Given the description of an element on the screen output the (x, y) to click on. 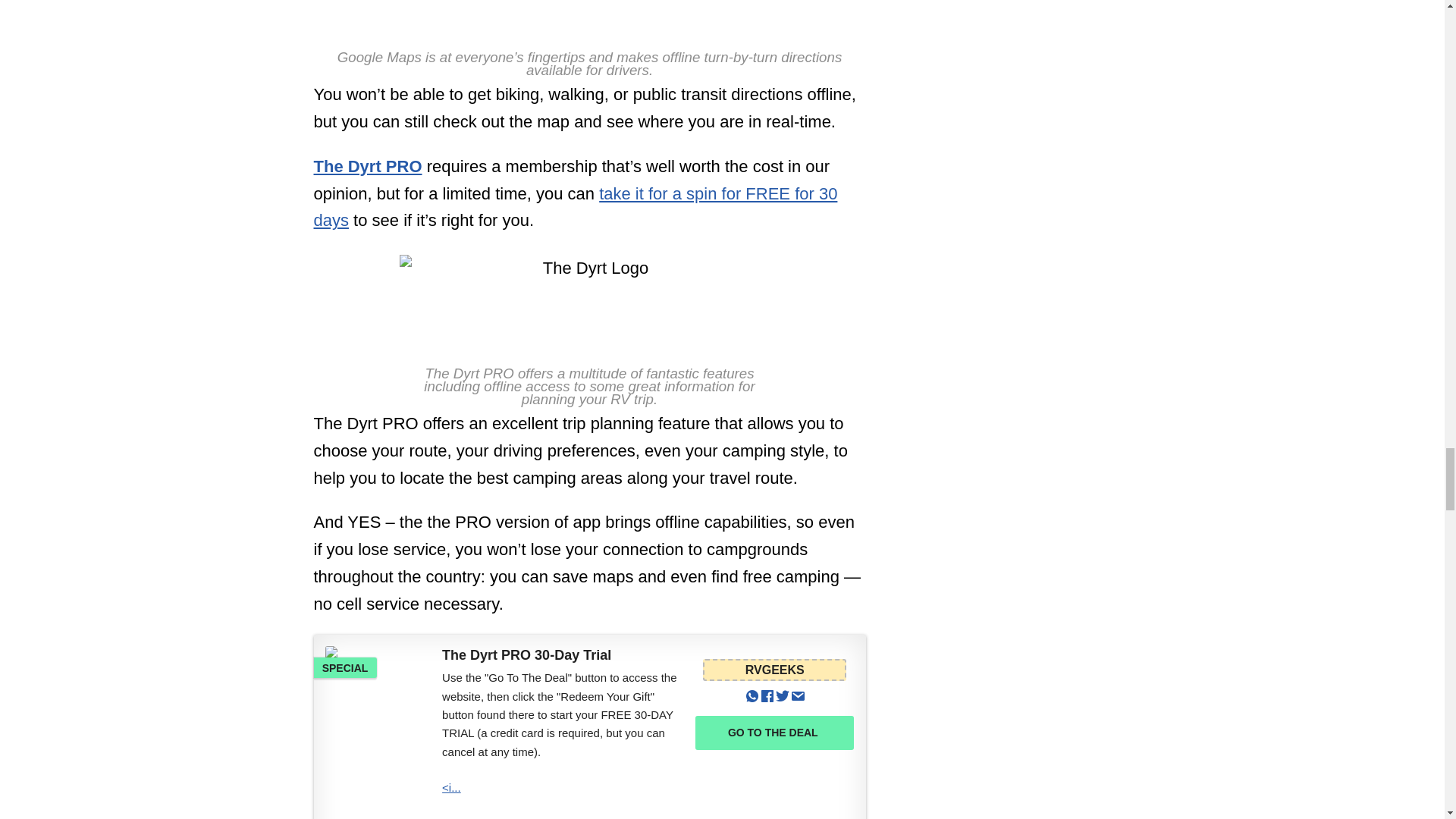
Show More (564, 816)
take it for a spin for FREE for 30 days (576, 207)
Go to the deal (774, 732)
The Dyrt PRO 30-Day Trial (377, 675)
The Dyrt PRO (368, 166)
